Given the description of an element on the screen output the (x, y) to click on. 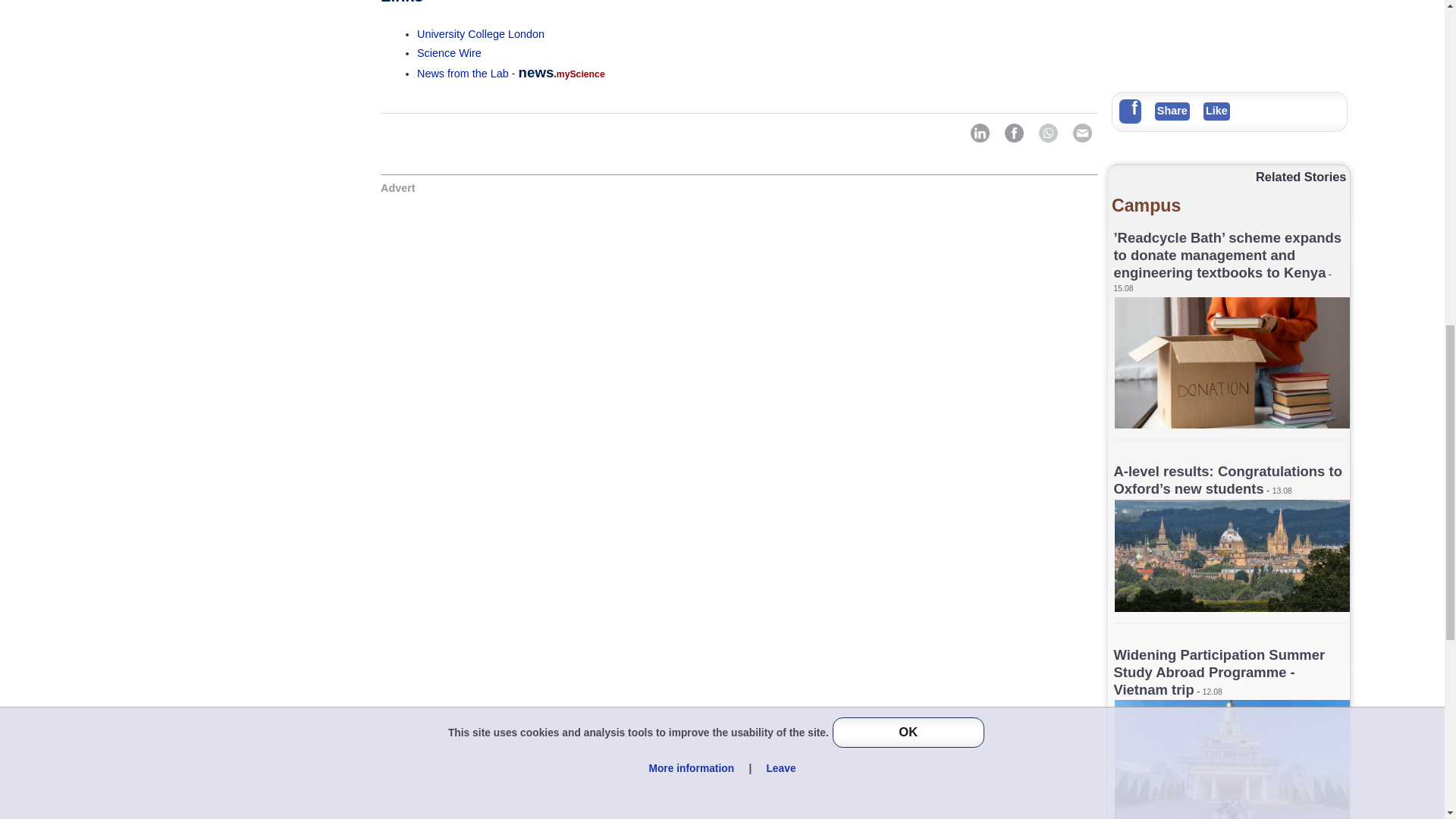
All news and press releases (448, 52)
News (462, 73)
Send by Email (1082, 133)
Share on WhatsApp Web (1047, 133)
Share on Facebook (1014, 133)
Share on LinkedIn (980, 133)
